Given the description of an element on the screen output the (x, y) to click on. 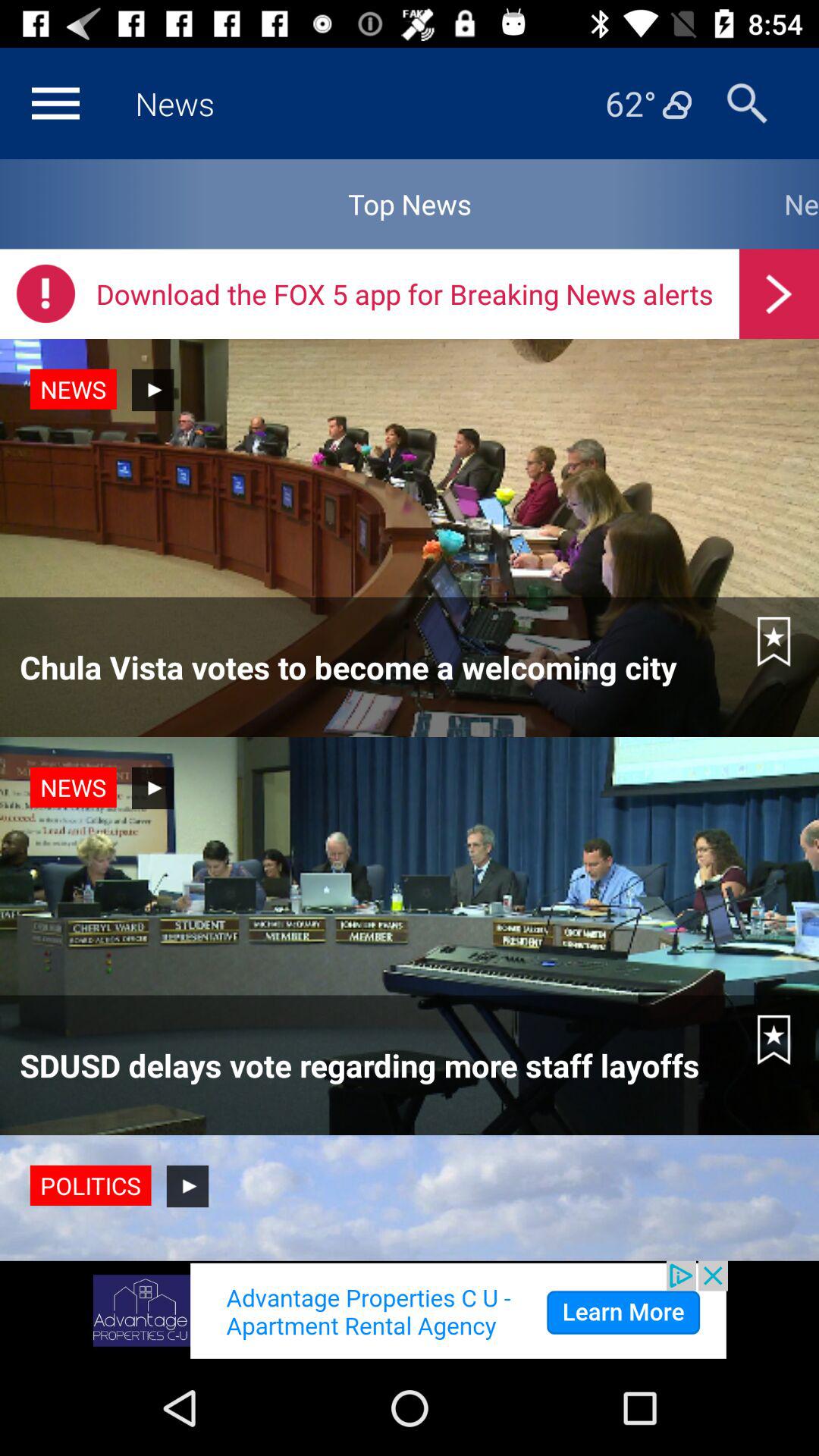
open the menu (55, 103)
